Given the description of an element on the screen output the (x, y) to click on. 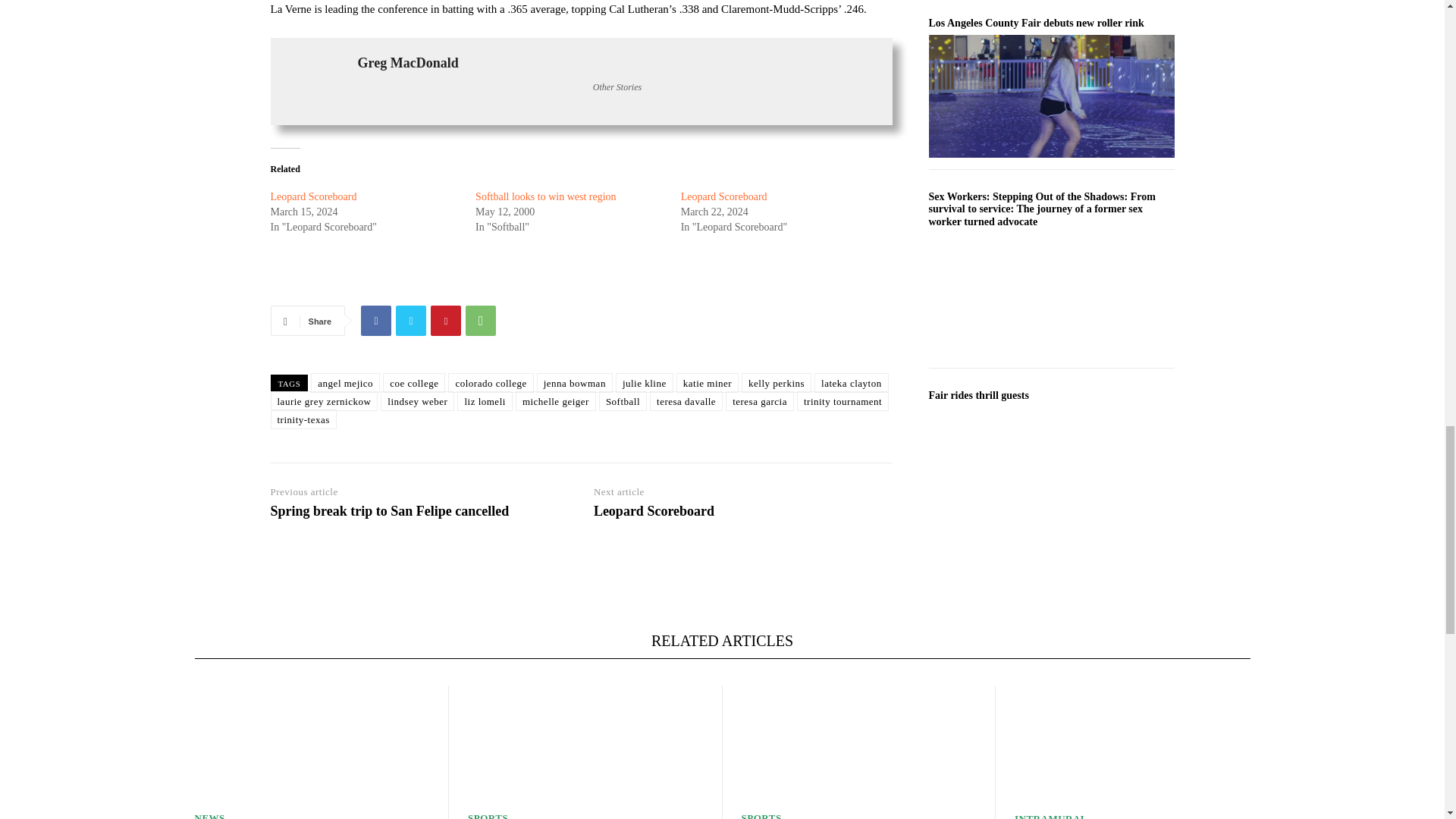
Twitter (411, 320)
Leopard Scoreboard (312, 196)
Softball looks to win west region (545, 196)
Leopard Scoreboard (724, 196)
Pinterest (445, 320)
Facebook (376, 320)
WhatsApp (480, 320)
